Given the description of an element on the screen output the (x, y) to click on. 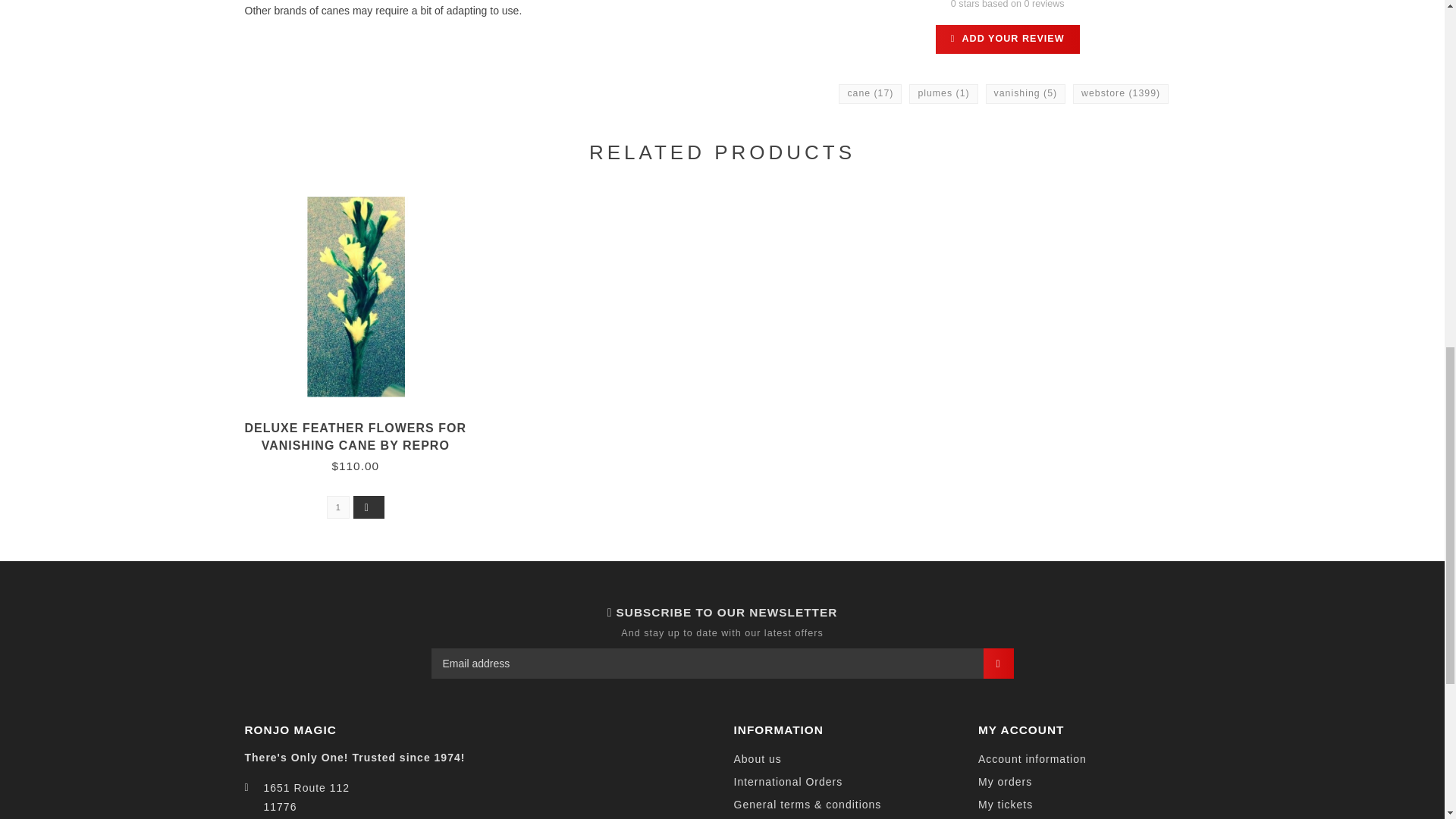
webstore (1121, 94)
Privacy policy (771, 817)
Add your review (1008, 39)
International Orders (788, 782)
cane (869, 94)
1 (337, 507)
plumes (942, 94)
About us (757, 759)
vanishing (1025, 94)
